Given the description of an element on the screen output the (x, y) to click on. 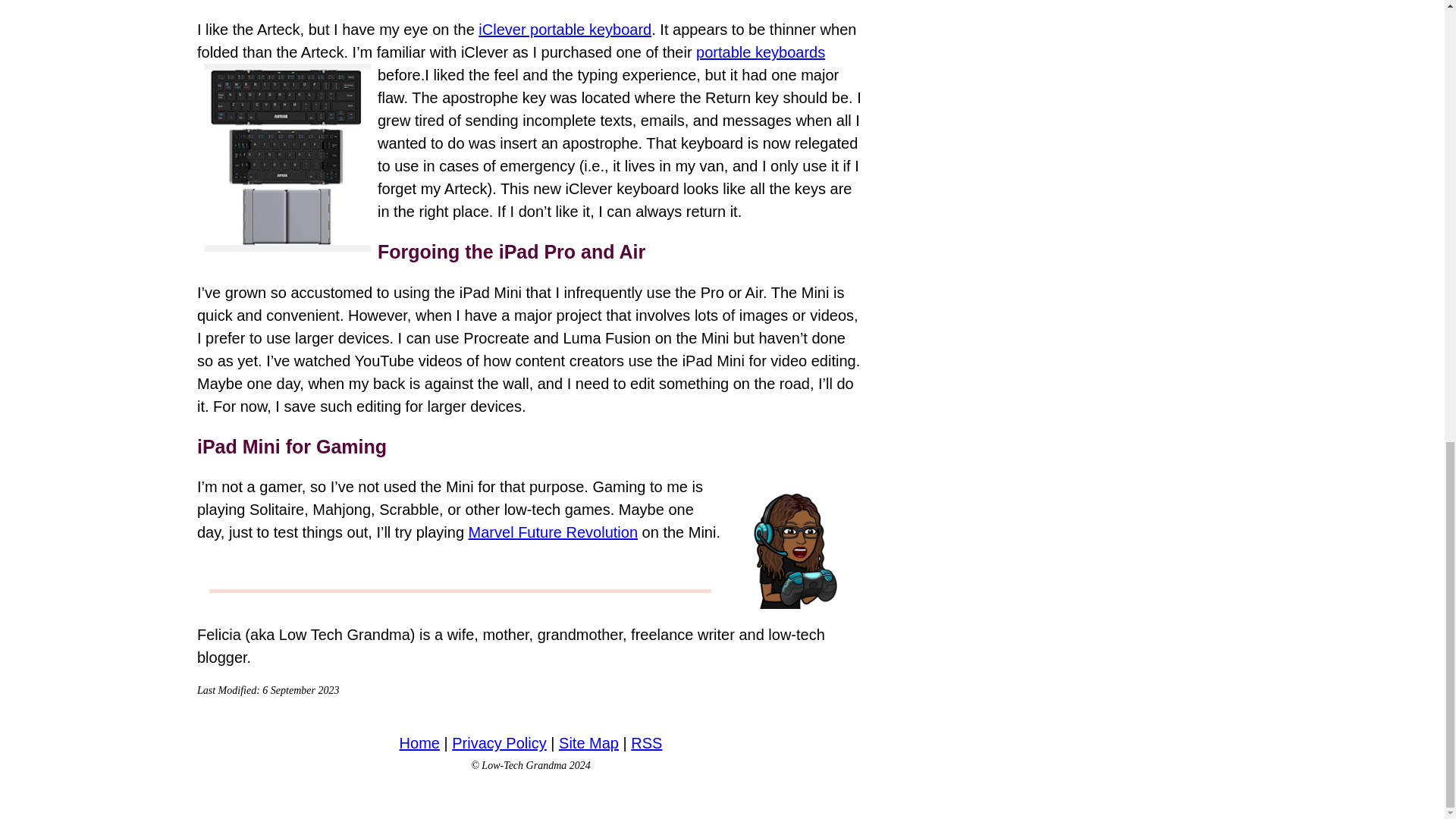
iClever portable keyboard (564, 29)
RSS (646, 742)
Marvel Future Revolution (552, 532)
Home (418, 742)
Privacy Policy (498, 742)
Site Map (588, 742)
portable keyboards (760, 52)
